Given the description of an element on the screen output the (x, y) to click on. 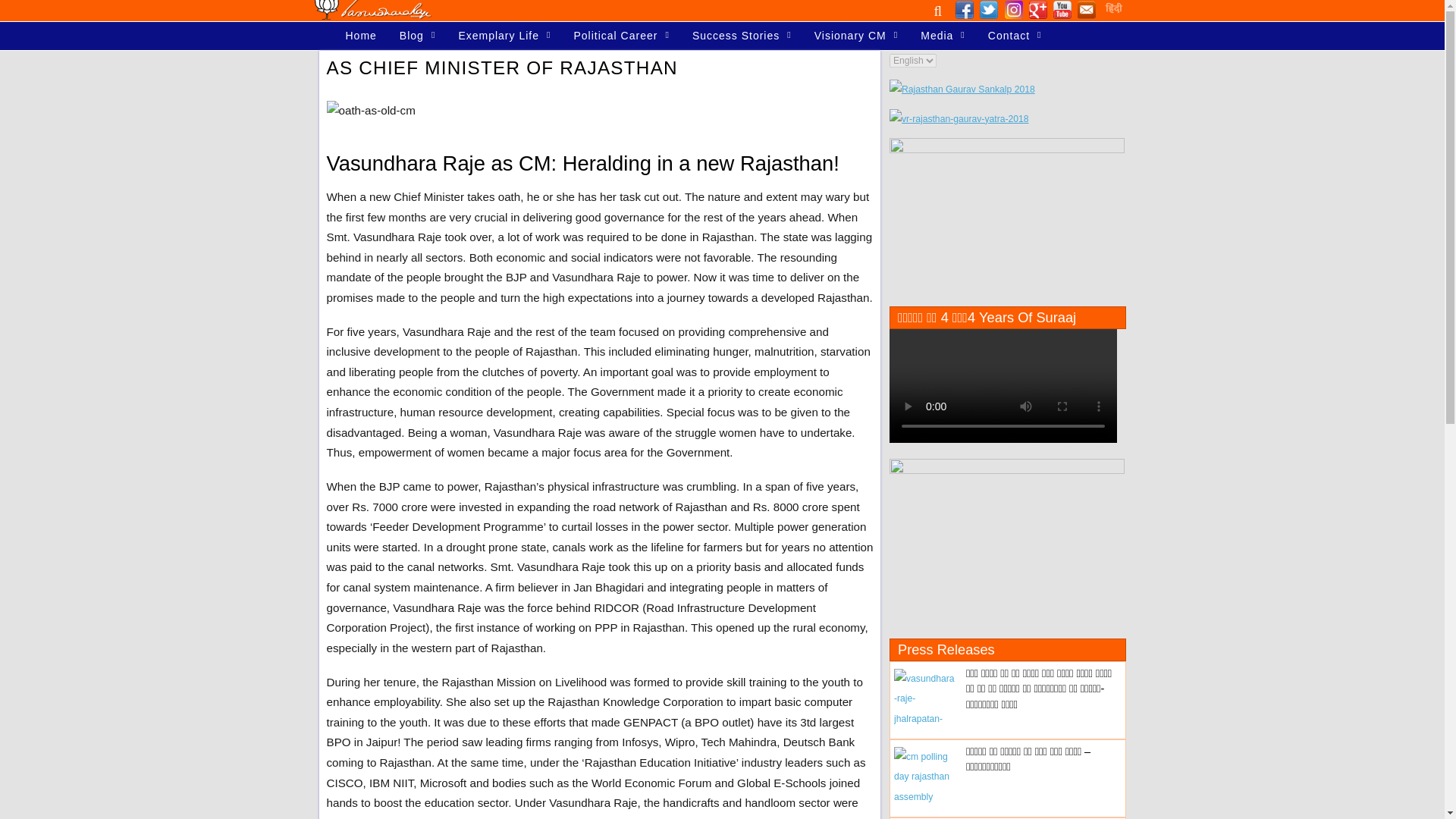
Vasundhara Raje (371, 9)
Exemplary Life (504, 35)
Visionary CM (855, 35)
budget highlights banner (1006, 538)
Blog (417, 35)
Political Career (620, 35)
Vasundhara Raje (371, 12)
Home (360, 35)
Success Stories (742, 35)
